Given the description of an element on the screen output the (x, y) to click on. 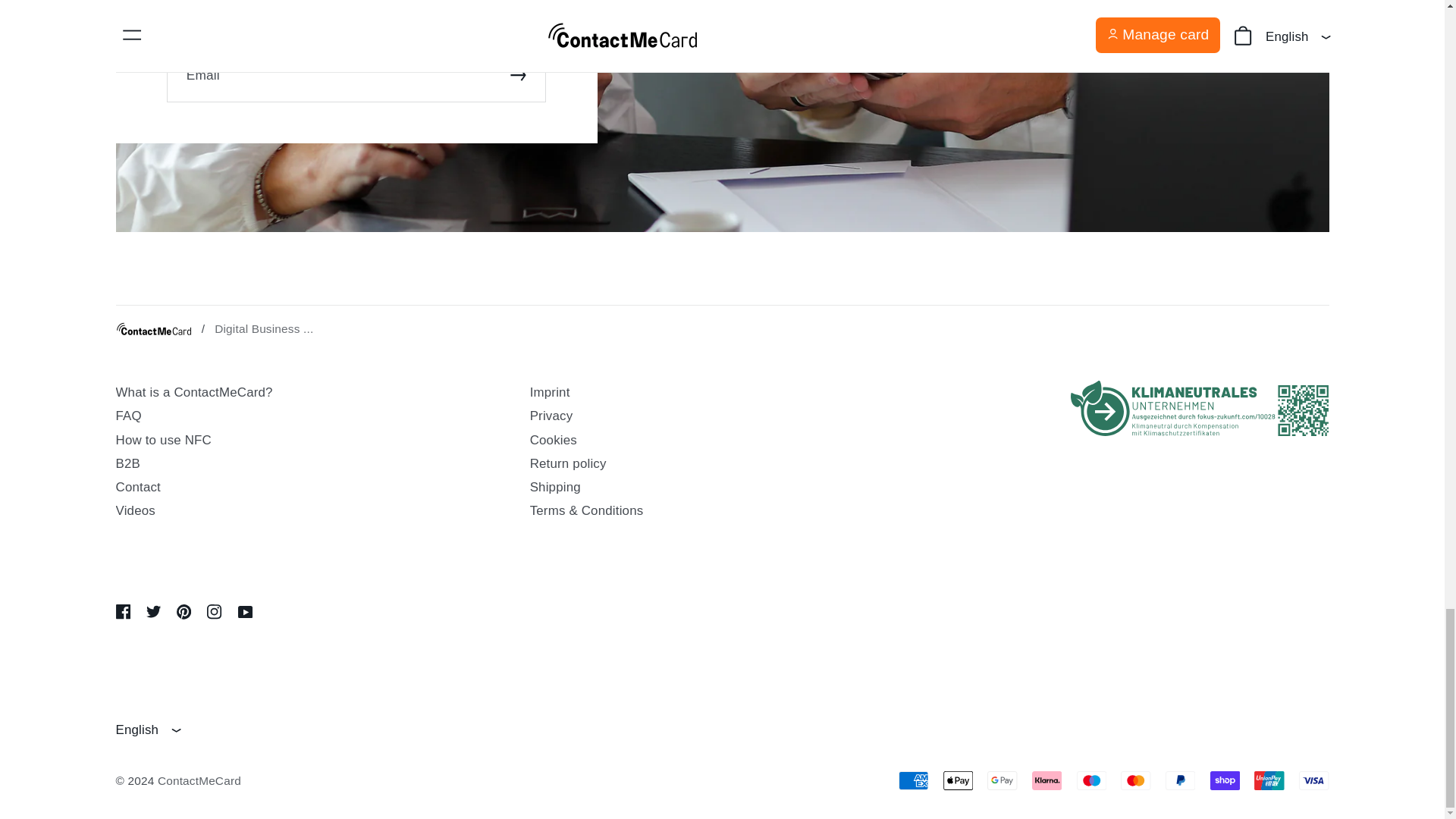
ContactMeCard on Instagram (218, 612)
ContactMeCard on Facebook (126, 612)
ContactMeCard on YouTube (250, 612)
ContactMeCard on Pinterest (188, 612)
ContactMeCard on Twitter (158, 612)
